Given the description of an element on the screen output the (x, y) to click on. 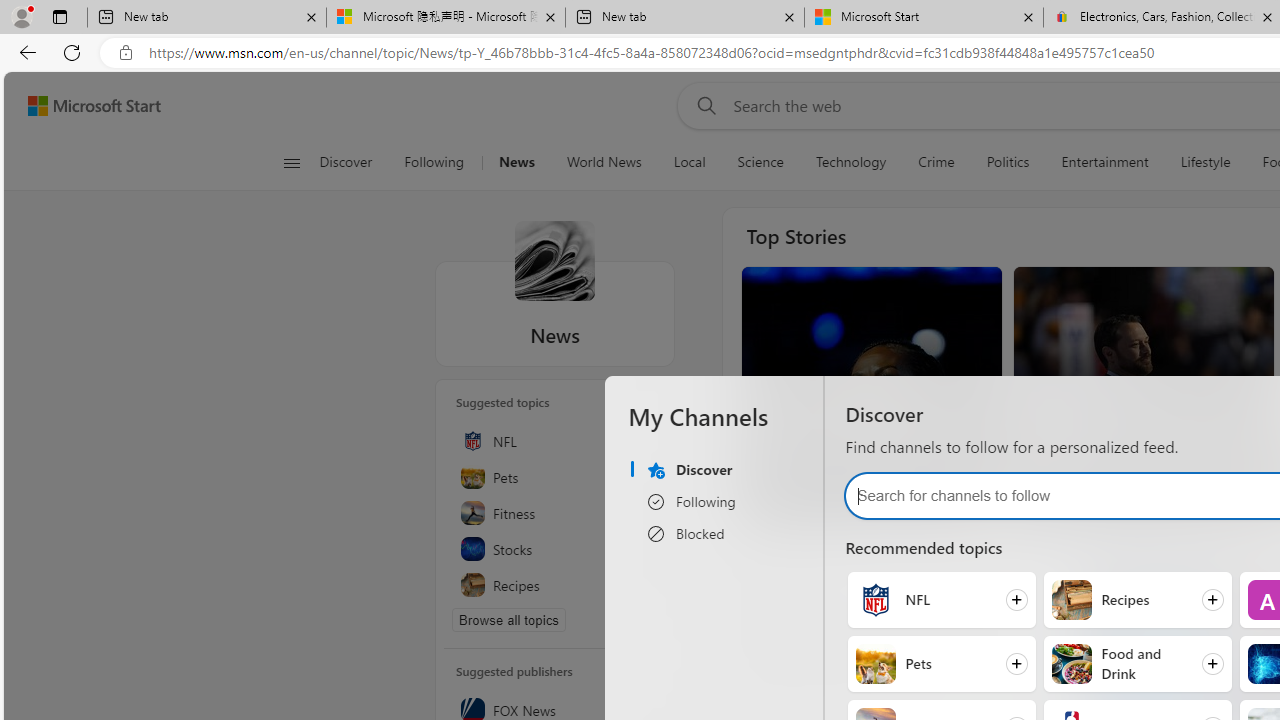
Politics (1007, 162)
Open navigation menu (291, 162)
News (516, 162)
Pets (555, 476)
Local (688, 162)
View comments 268 Comment (850, 500)
Technology (850, 162)
Lifestyle (1204, 162)
Follow Food and Drink (1137, 663)
Microsoft Start (924, 17)
Pets (875, 663)
Lifestyle (1205, 162)
